Given the description of an element on the screen output the (x, y) to click on. 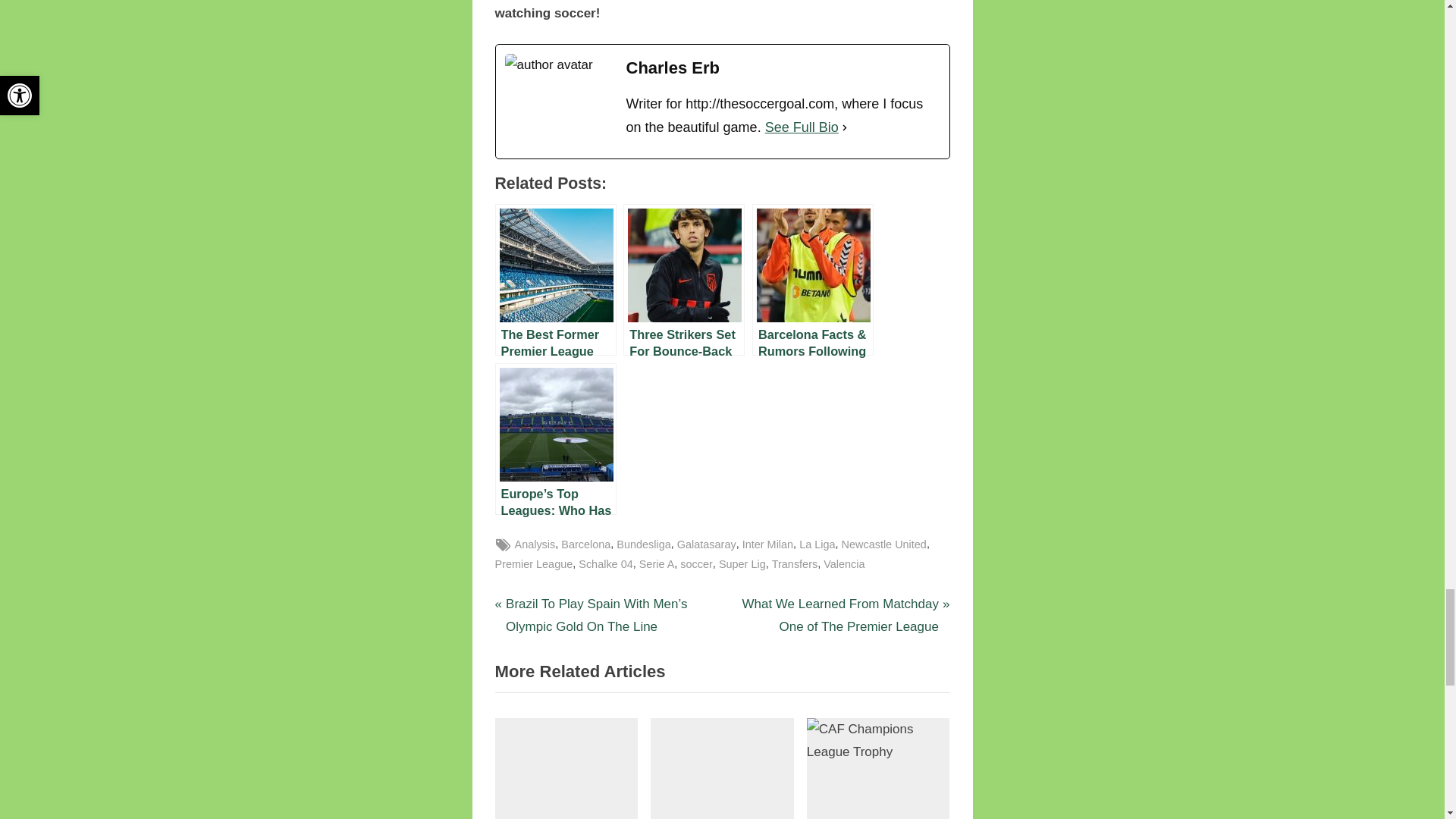
Analysis (533, 544)
Barcelona (585, 544)
Bundesliga (642, 544)
Soccer (530, 544)
See Full Bio (801, 128)
